Given the description of an element on the screen output the (x, y) to click on. 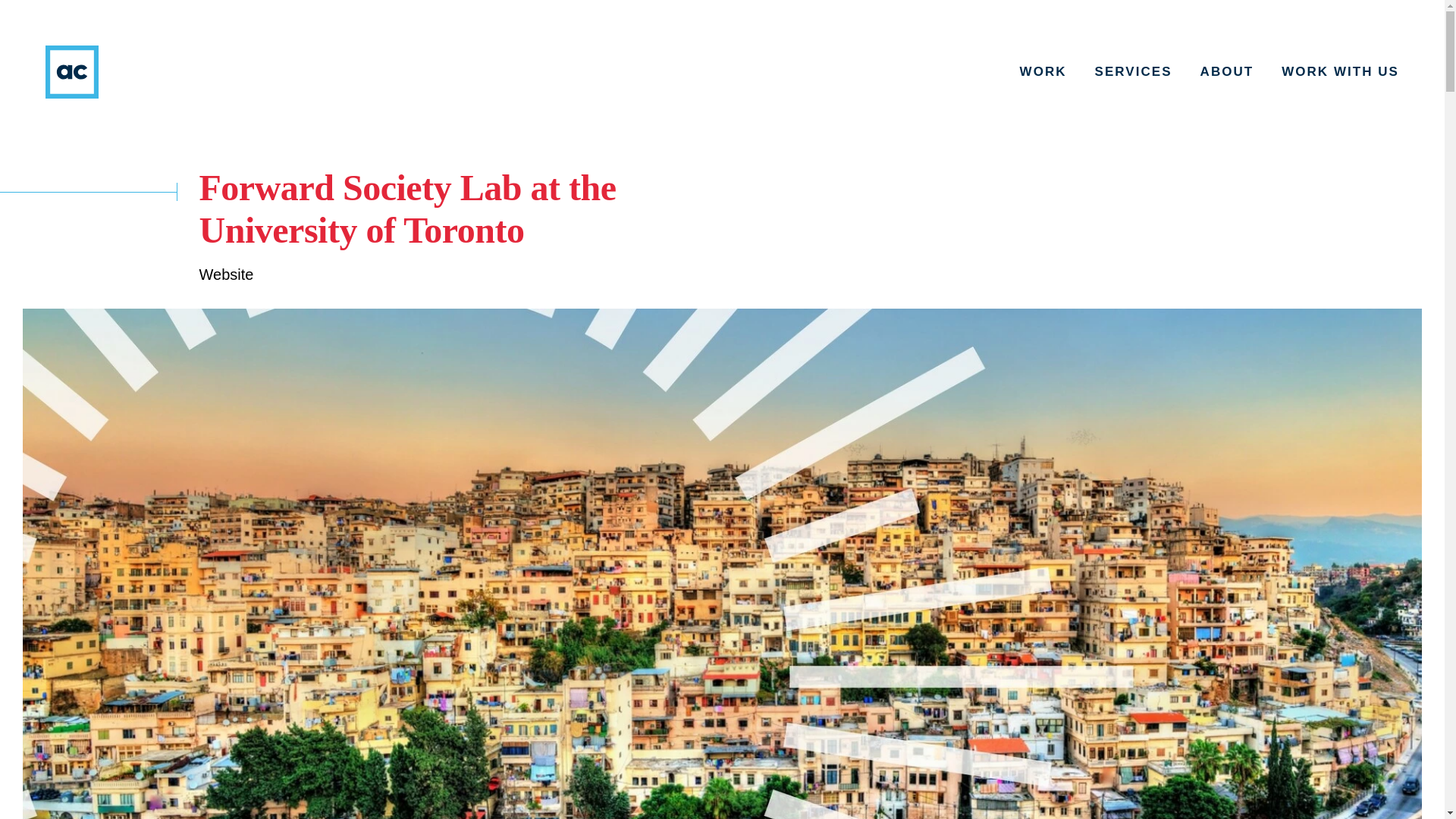
WORK (1043, 71)
Advocate Creative - Home (72, 71)
Website (225, 274)
ABOUT (1226, 71)
WORK WITH US (1340, 71)
SERVICES (1133, 71)
